Given the description of an element on the screen output the (x, y) to click on. 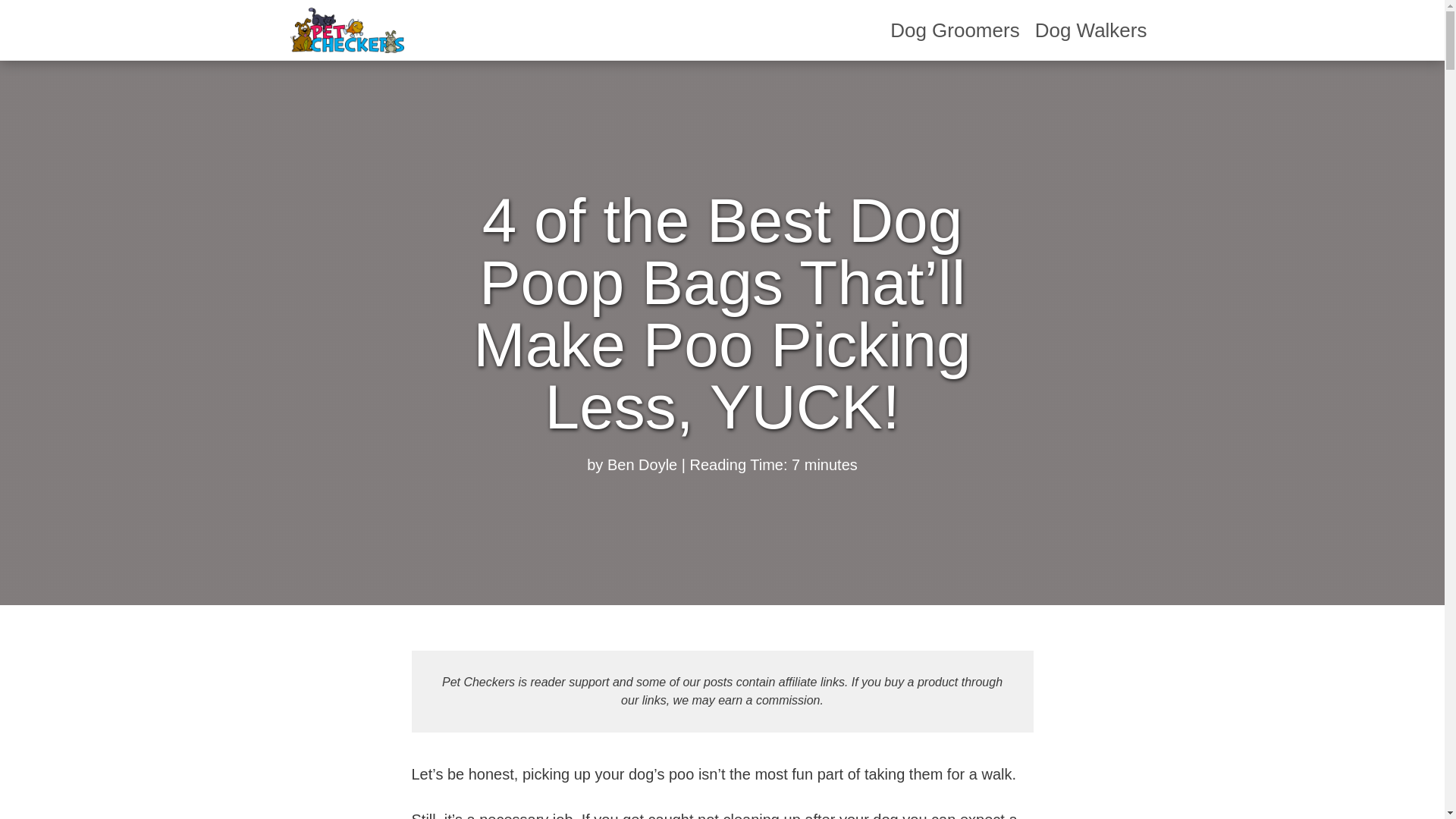
Ben Doyle (642, 464)
Pet Checkers (346, 30)
View all posts by Ben Doyle (642, 464)
Dog Walkers (1090, 30)
Dog Groomers (954, 30)
